Given the description of an element on the screen output the (x, y) to click on. 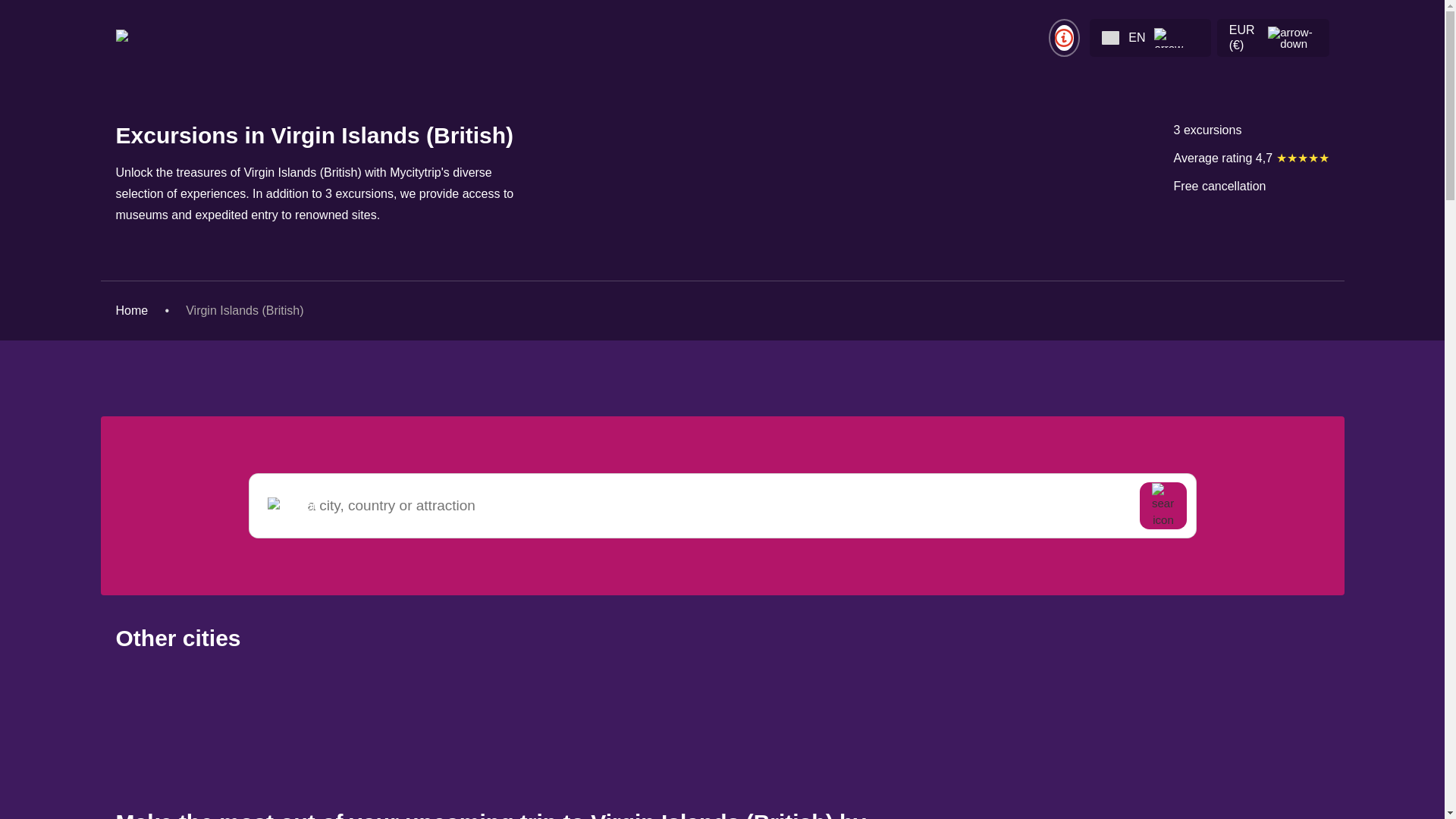
Home (141, 309)
